Given the description of an element on the screen output the (x, y) to click on. 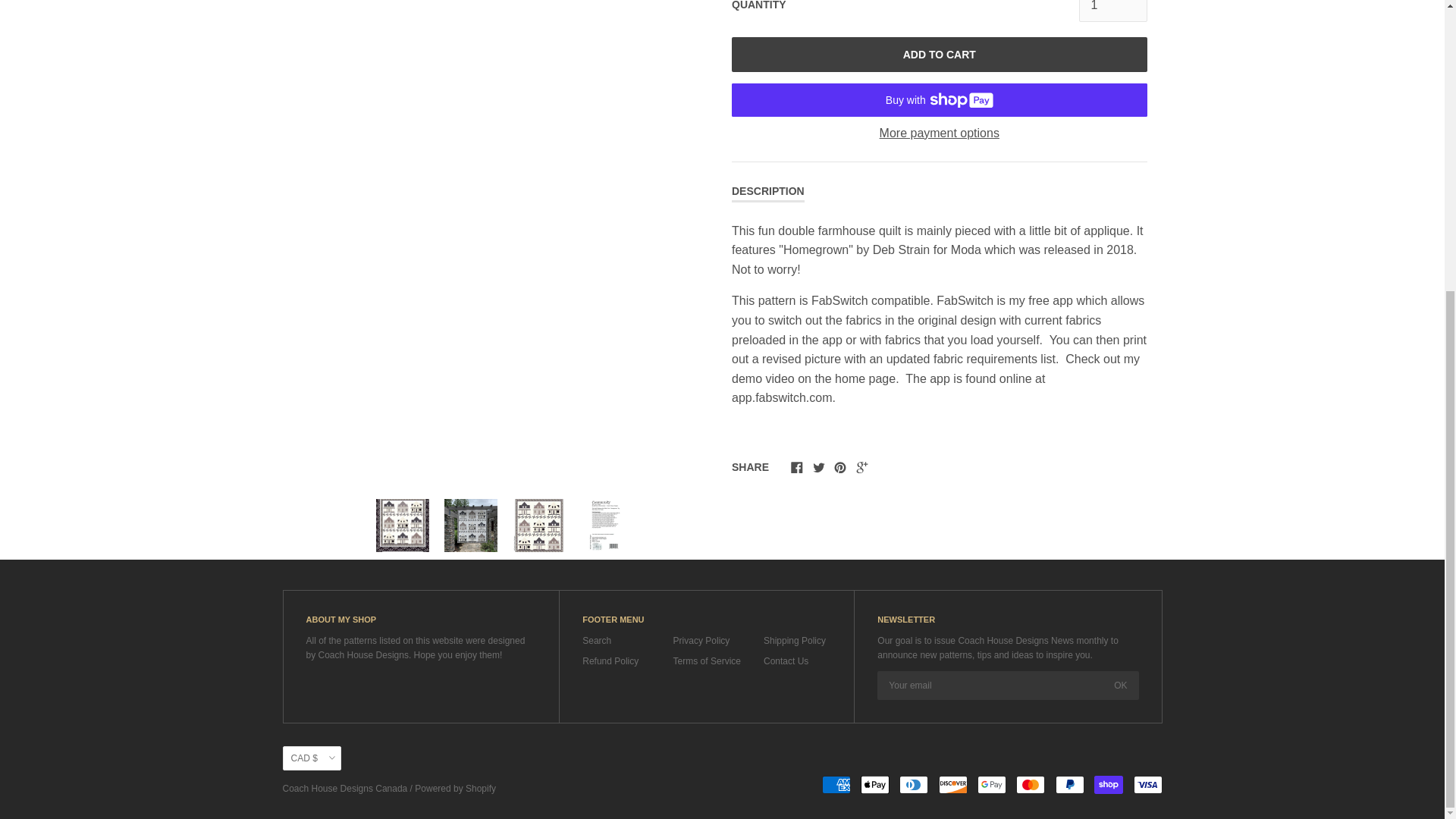
1 (1112, 11)
Discover (953, 784)
Shop Pay (1108, 784)
Pinterest (839, 467)
Diners Club (913, 784)
American Express (836, 784)
Facebook (796, 467)
Visa (1146, 784)
Twitter (818, 467)
Apple Pay (874, 784)
Mastercard (1030, 784)
OK (1120, 685)
PayPal (1069, 784)
Google Pay (991, 784)
